Given the description of an element on the screen output the (x, y) to click on. 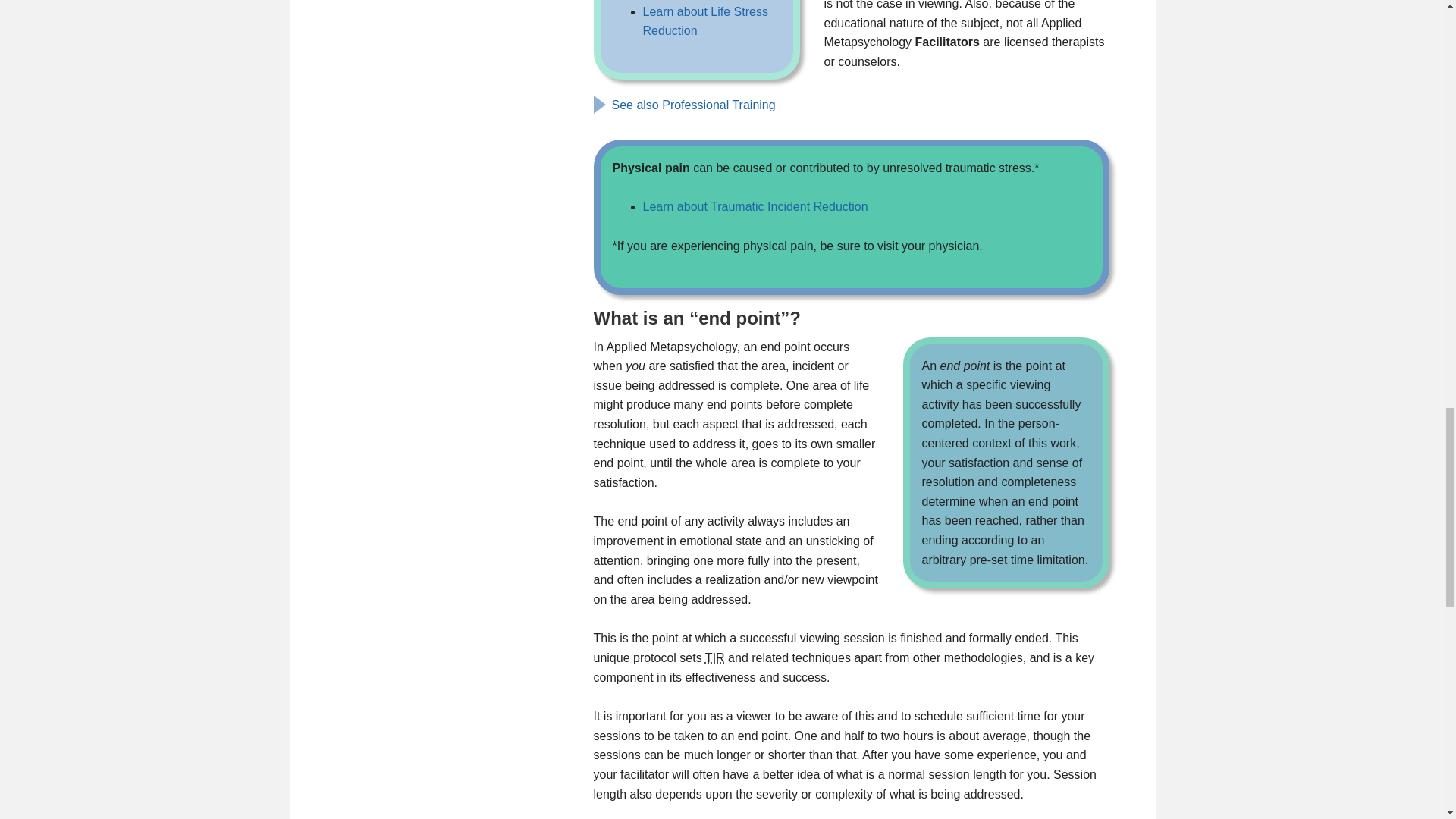
Learn about Life Stress Reduction (705, 20)
Traumatic Incident Reduction (714, 657)
See also Professional Training (692, 104)
